Given the description of an element on the screen output the (x, y) to click on. 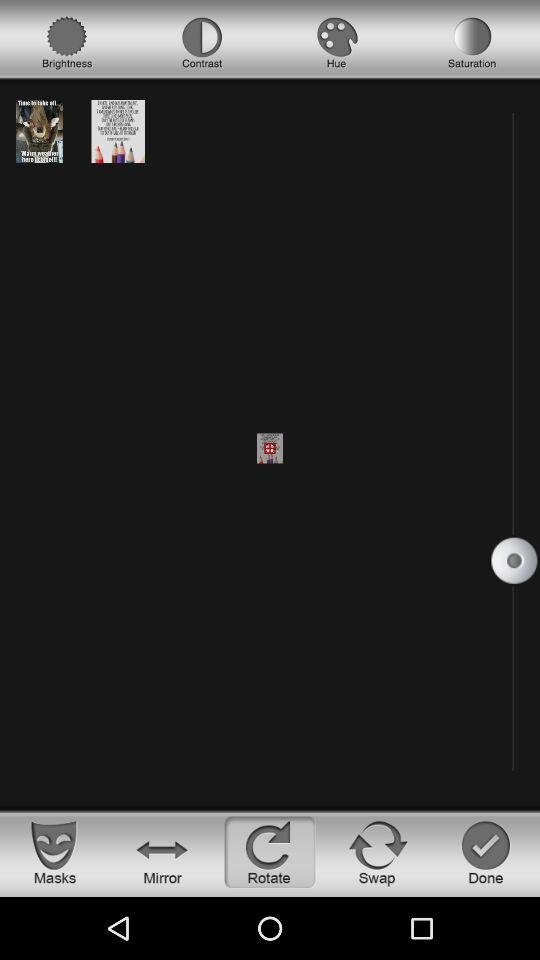
swap button (377, 852)
